Given the description of an element on the screen output the (x, y) to click on. 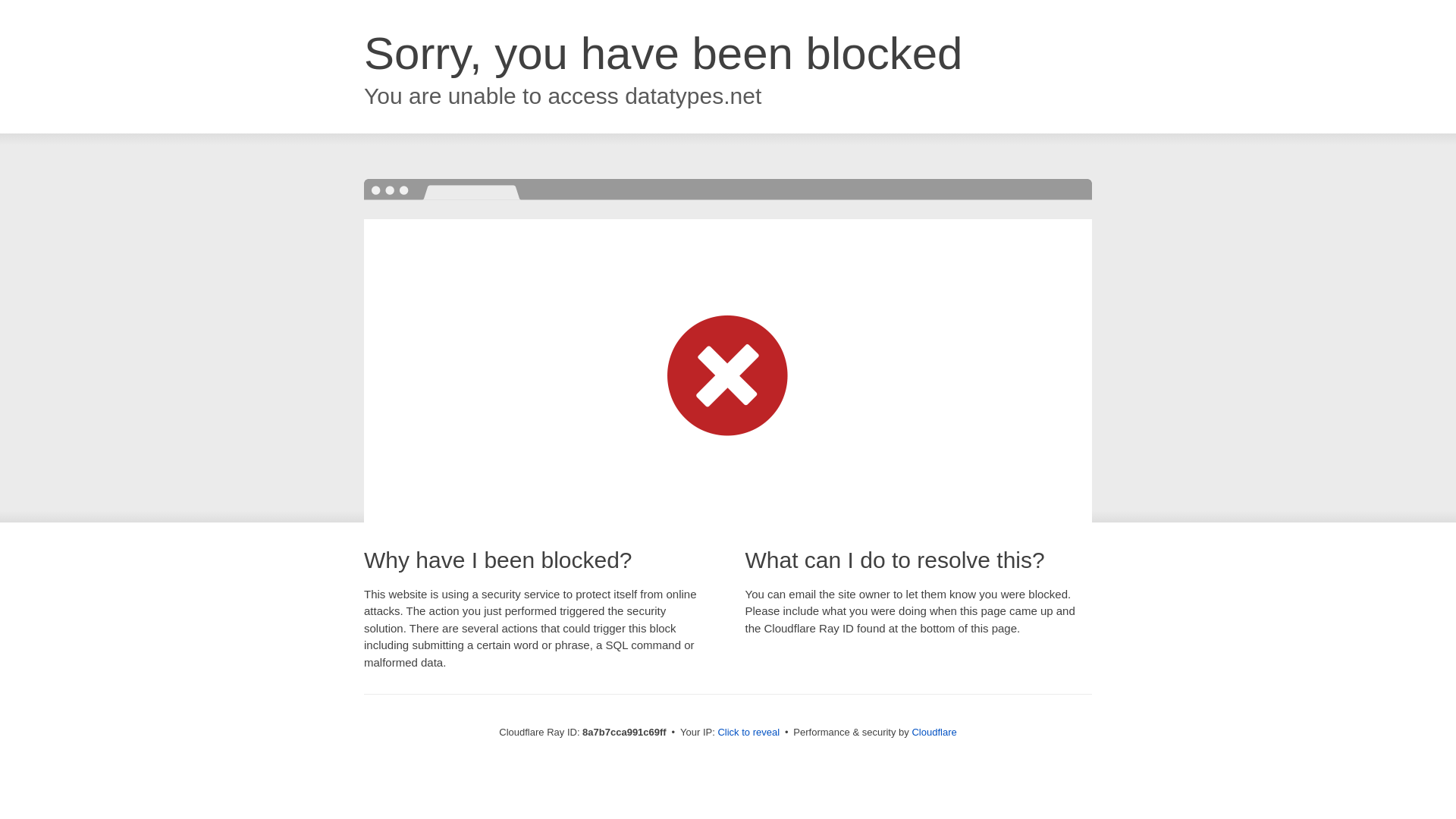
Click to reveal (747, 732)
Cloudflare (933, 731)
